Given the description of an element on the screen output the (x, y) to click on. 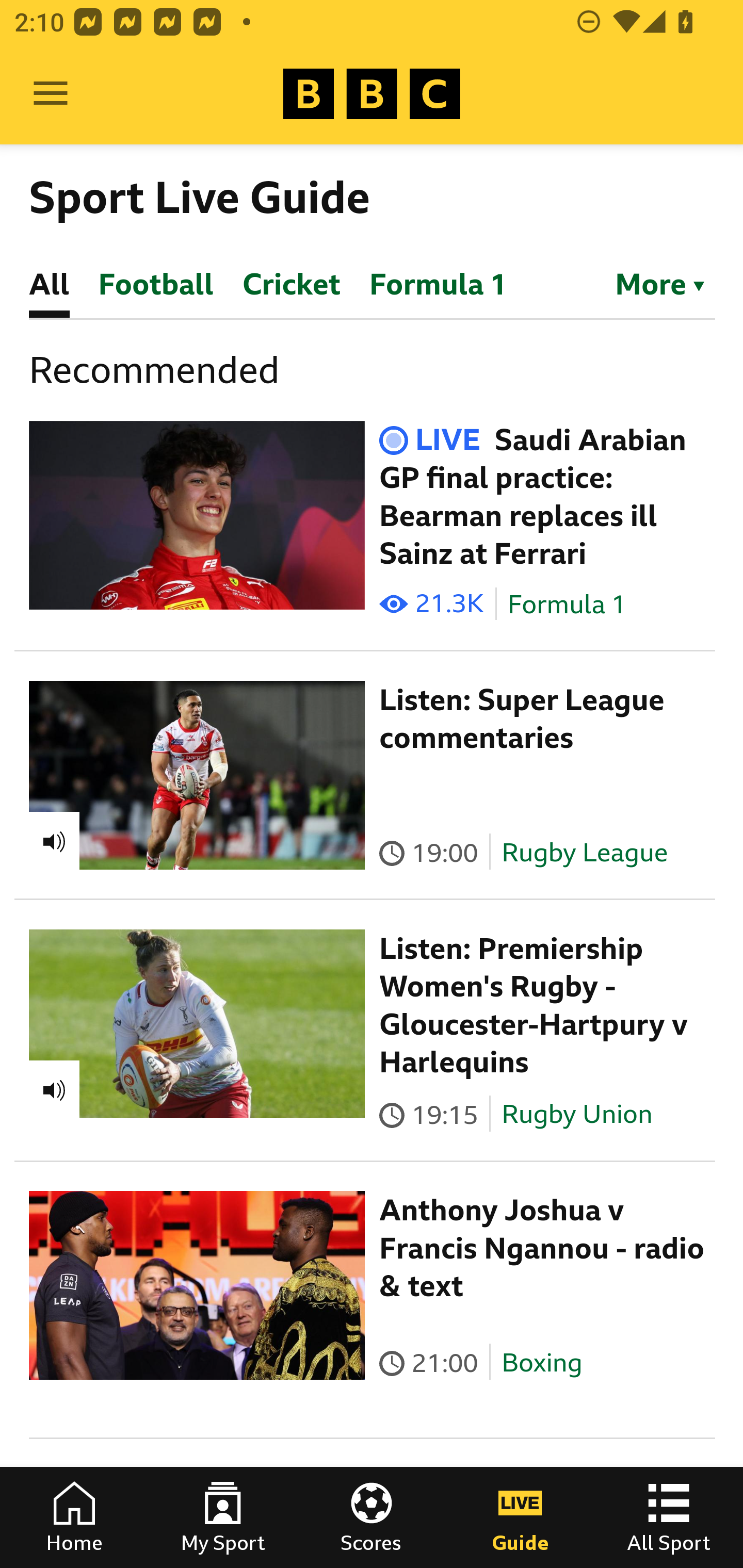
Open Menu (50, 93)
Formula 1 (566, 604)
Listen: Super League commentaries (522, 718)
Rugby League (584, 851)
Rugby Union (576, 1113)
Anthony Joshua v Francis Ngannou - radio & text (541, 1248)
Boxing (541, 1362)
Home (74, 1517)
My Sport (222, 1517)
Scores (371, 1517)
All Sport (668, 1517)
